Given the description of an element on the screen output the (x, y) to click on. 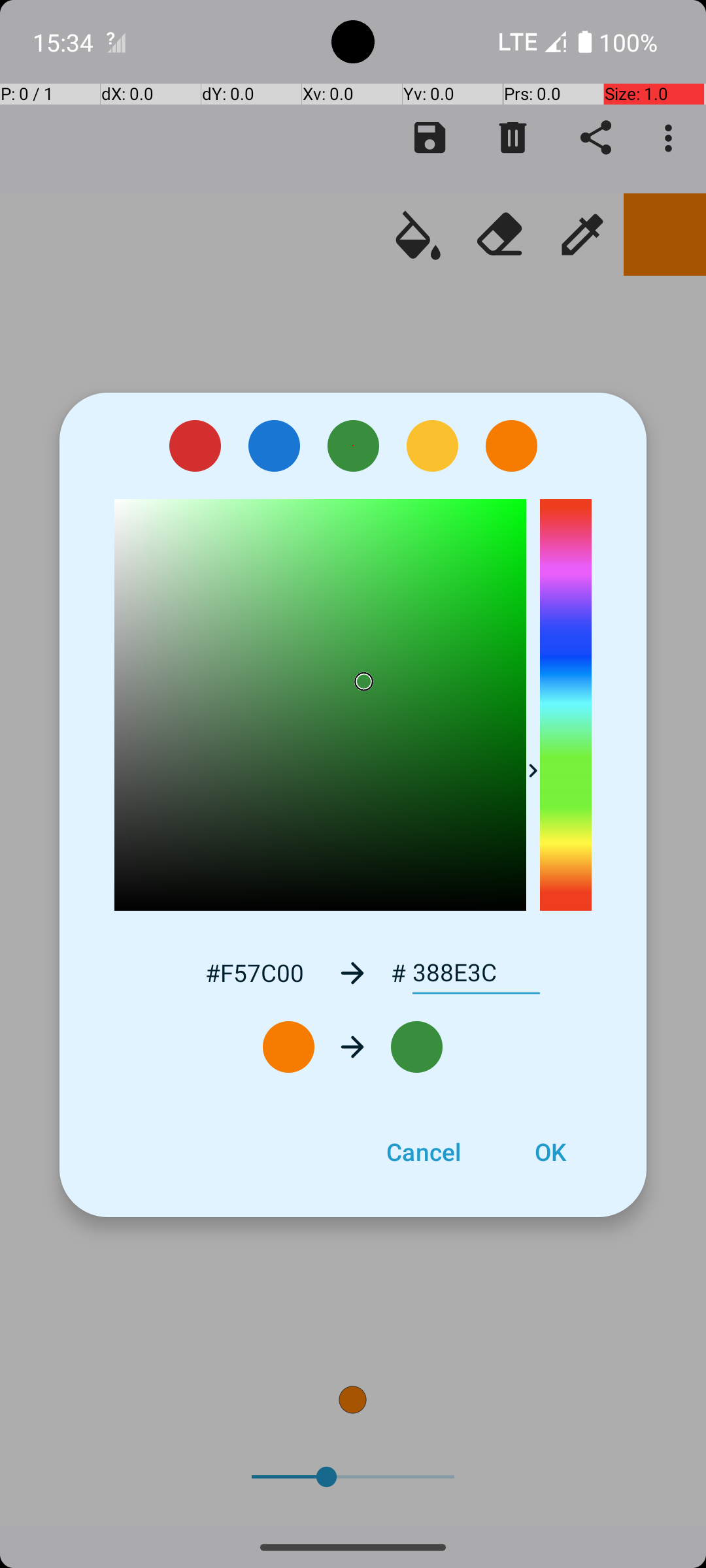
#F57C00 Element type: android.widget.TextView (254, 972)
388E3C Element type: android.widget.EditText (475, 972)
